Given the description of an element on the screen output the (x, y) to click on. 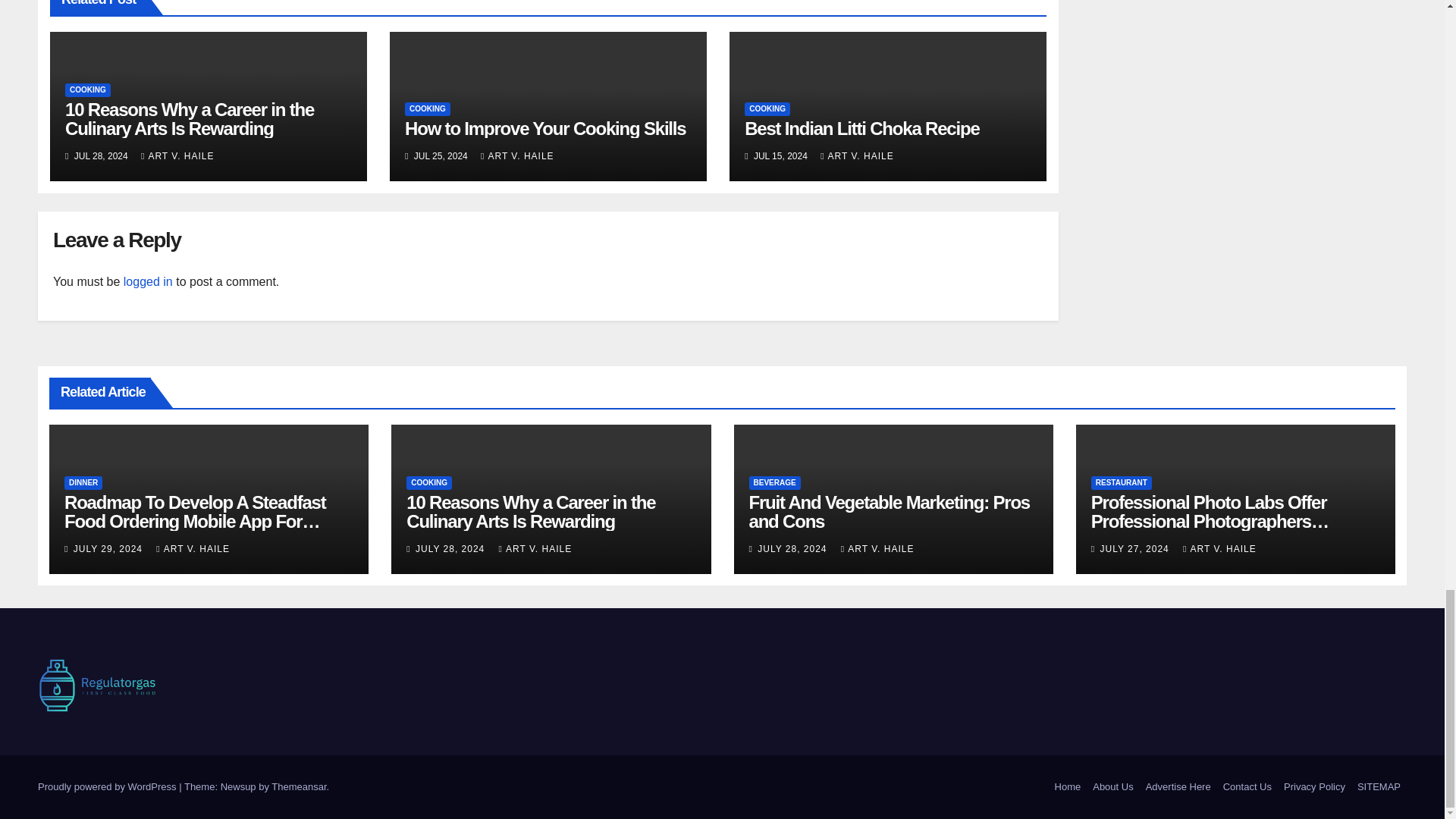
Permalink to: How to Improve Your Cooking Skills (544, 127)
COOKING (87, 90)
10 Reasons Why a Career in the Culinary Arts Is Rewarding (189, 118)
